Given the description of an element on the screen output the (x, y) to click on. 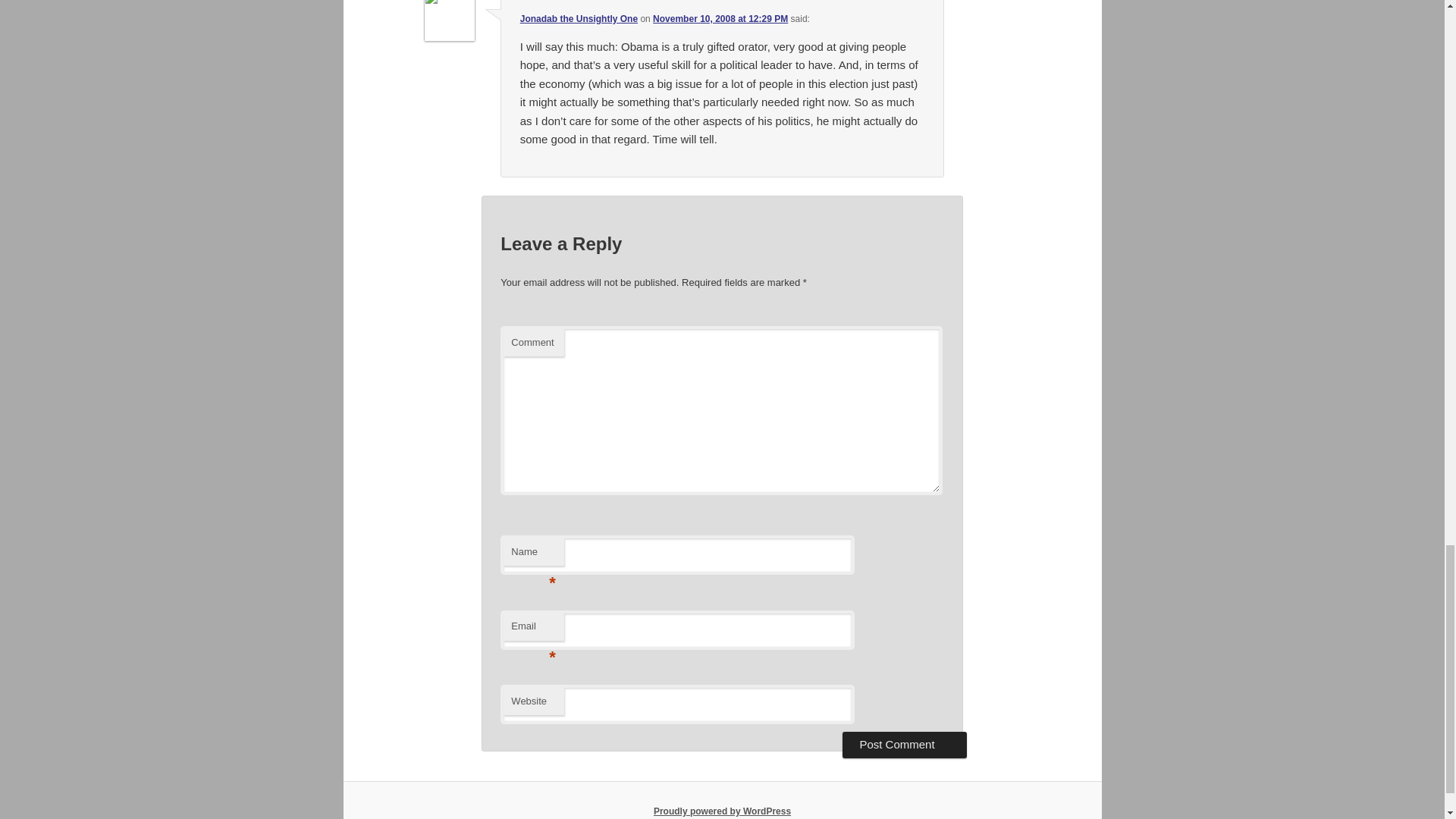
Post Comment (904, 744)
Proudly powered by WordPress (721, 810)
Jonadab the Unsightly One (578, 18)
November 10, 2008 at 12:29 PM (719, 18)
Post Comment (904, 744)
Semantic Personal Publishing Platform (721, 810)
